Given the description of an element on the screen output the (x, y) to click on. 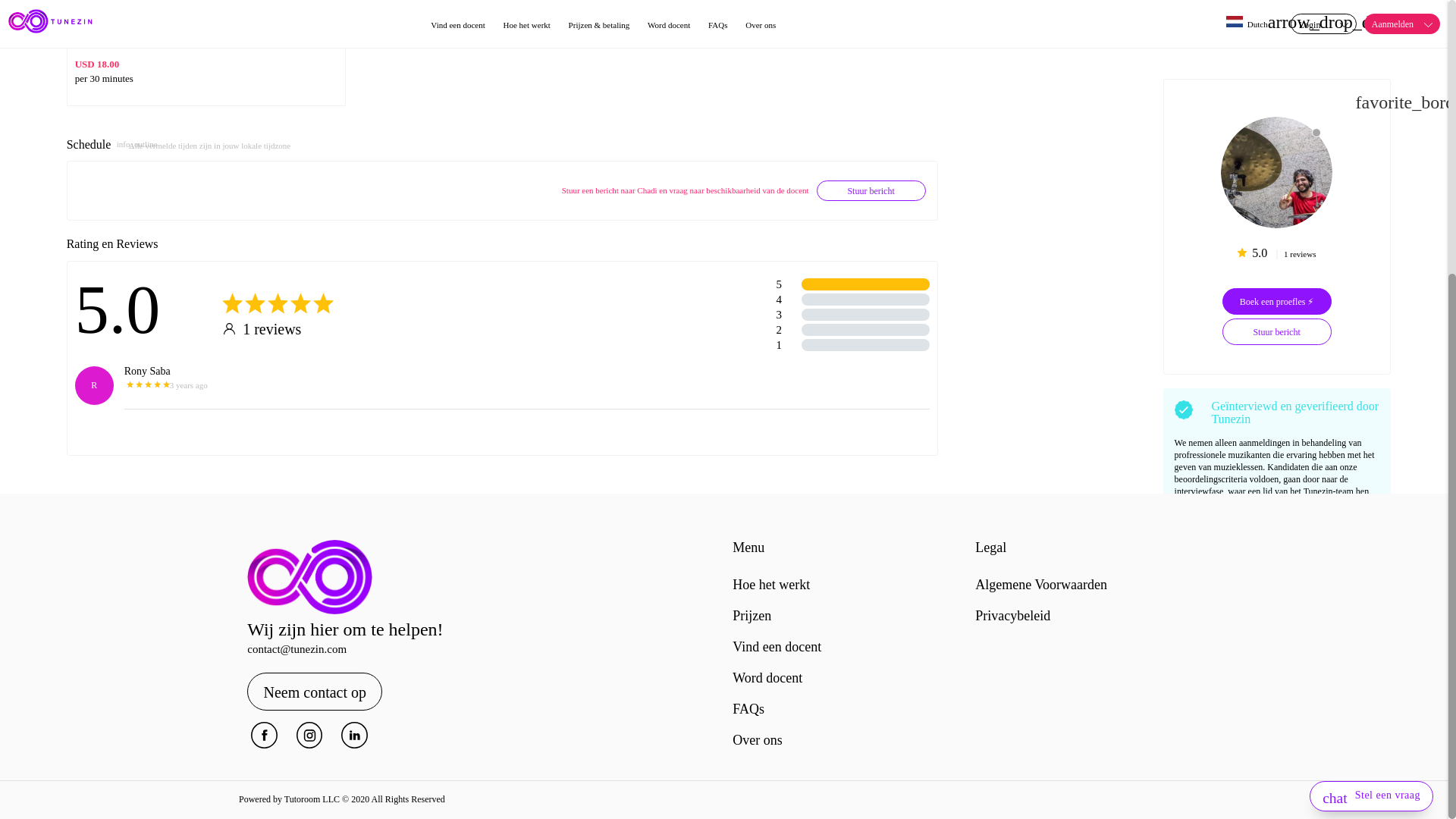
Stuur bericht (871, 190)
Hoe het werkt (770, 584)
Prijzen (751, 615)
Over ons (757, 739)
FAQs (748, 708)
Neem contact op (314, 691)
Word docent (767, 677)
Vind een docent (776, 646)
